Given the description of an element on the screen output the (x, y) to click on. 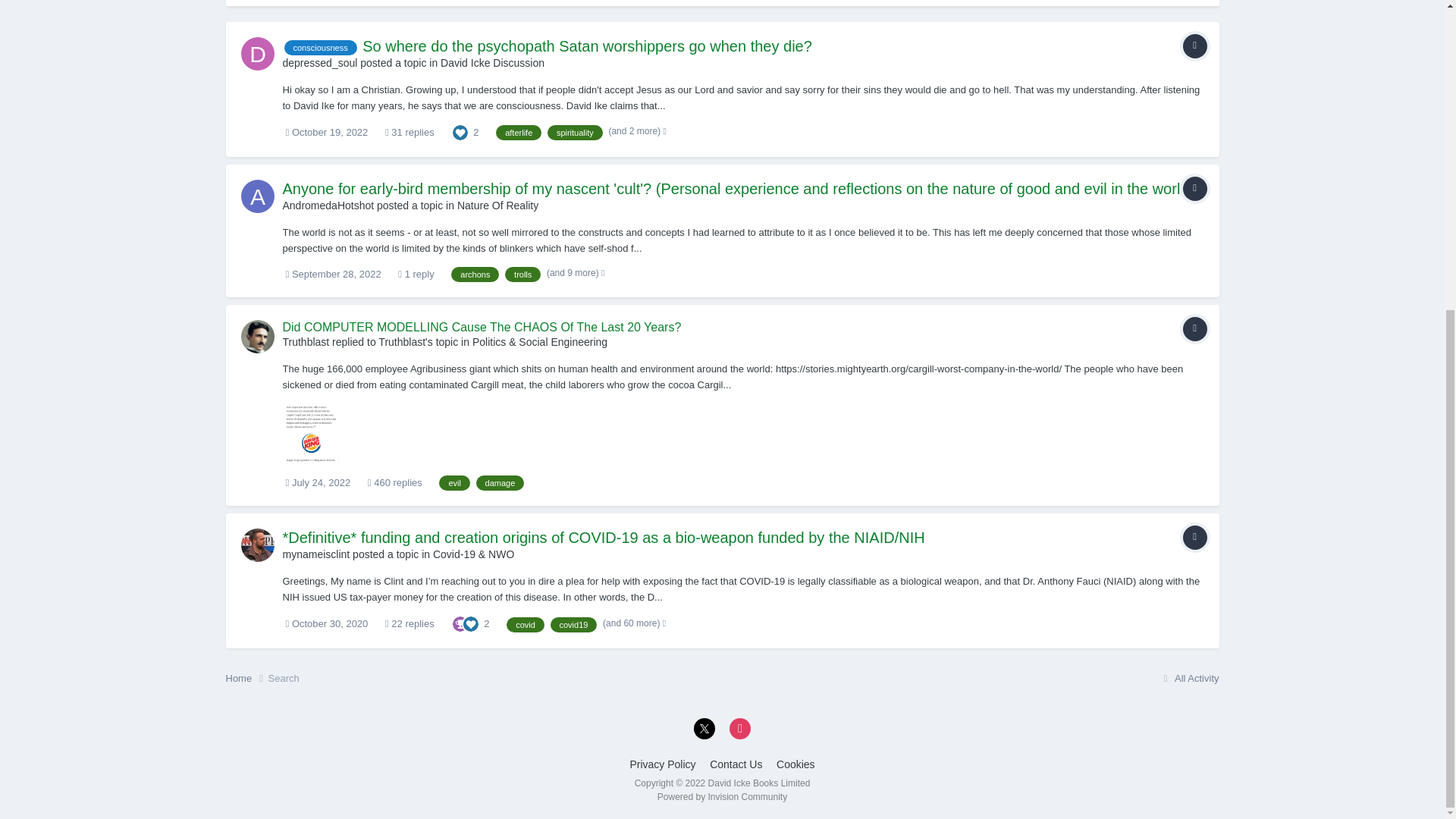
Topic (1194, 46)
Go to AndromedaHotshot's profile (258, 195)
Topic (1194, 188)
Go to AndromedaHotshot's profile (328, 205)
Find other content tagged with 'afterlife' (518, 132)
Find other content tagged with 'consciousness' (319, 47)
Find other content tagged with 'spirituality' (574, 132)
Like (459, 132)
